Given the description of an element on the screen output the (x, y) to click on. 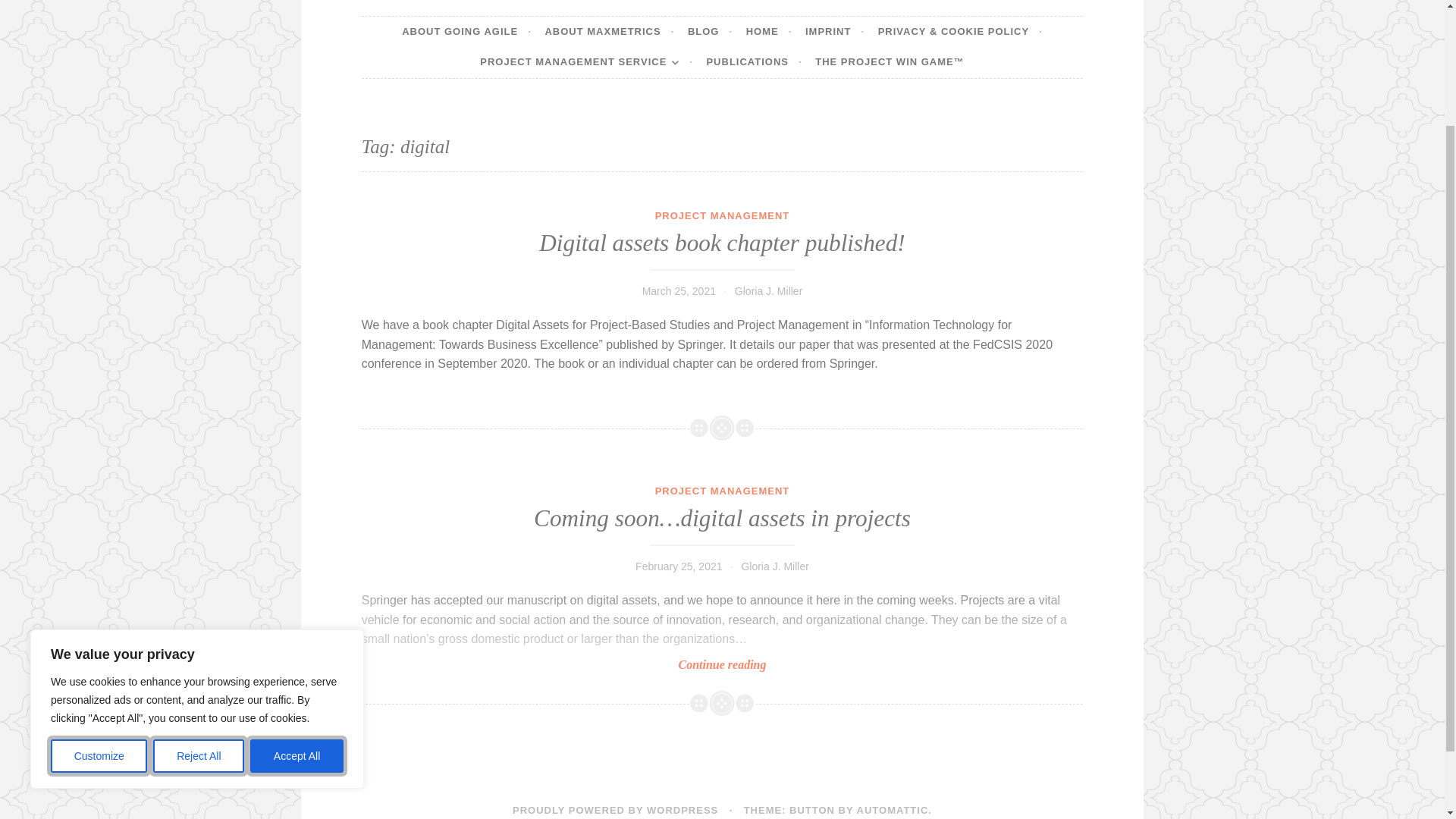
Reject All (198, 605)
BLOG (709, 31)
HOME (768, 31)
PROJECT MANAGEMENT (722, 490)
IMPRINT (834, 31)
Digital assets book chapter published! (721, 243)
PROJECT MANAGEMENT (722, 215)
ABOUT MAXMETRICS (609, 31)
March 25, 2021 (679, 291)
Accept All (296, 605)
